Given the description of an element on the screen output the (x, y) to click on. 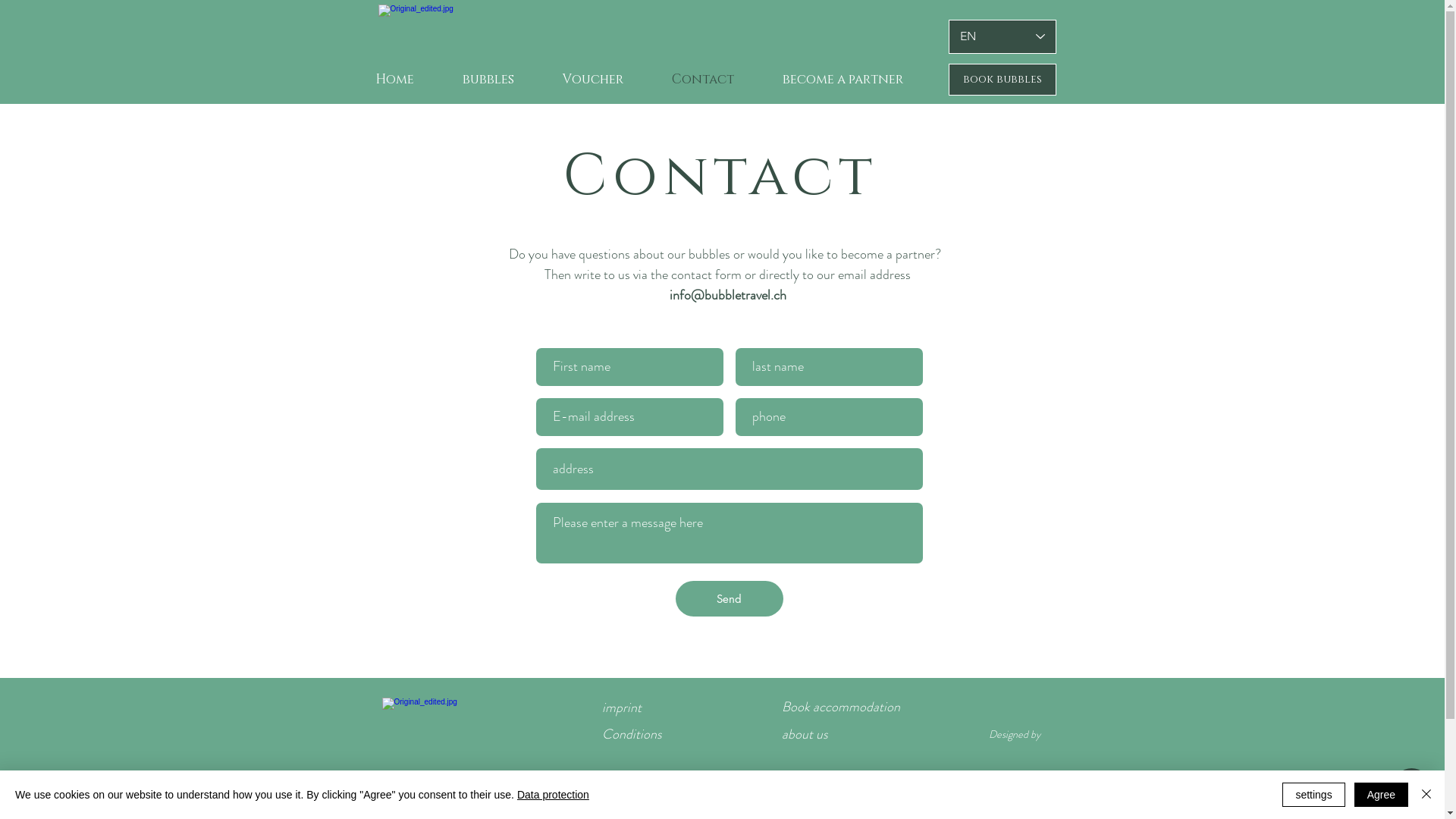
book bubbles Element type: text (1001, 79)
Send Element type: text (728, 598)
imprint Element type: text (621, 707)
Designed by Element type: text (1014, 733)
info@bubbletravel.ch Element type: text (726, 294)
Agree Element type: text (1381, 794)
Data protection Element type: text (553, 794)
Contact Element type: text (702, 79)
bubbles Element type: text (488, 79)
become a partner Element type: text (828, 792)
Home Element type: text (393, 79)
privacy Element type: text (621, 792)
settings Element type: text (1313, 794)
Voucher Element type: text (592, 79)
become a partner Element type: text (842, 79)
about us Element type: text (804, 733)
Conditions Element type: text (632, 733)
Book accommodation Element type: text (840, 706)
